Given the description of an element on the screen output the (x, y) to click on. 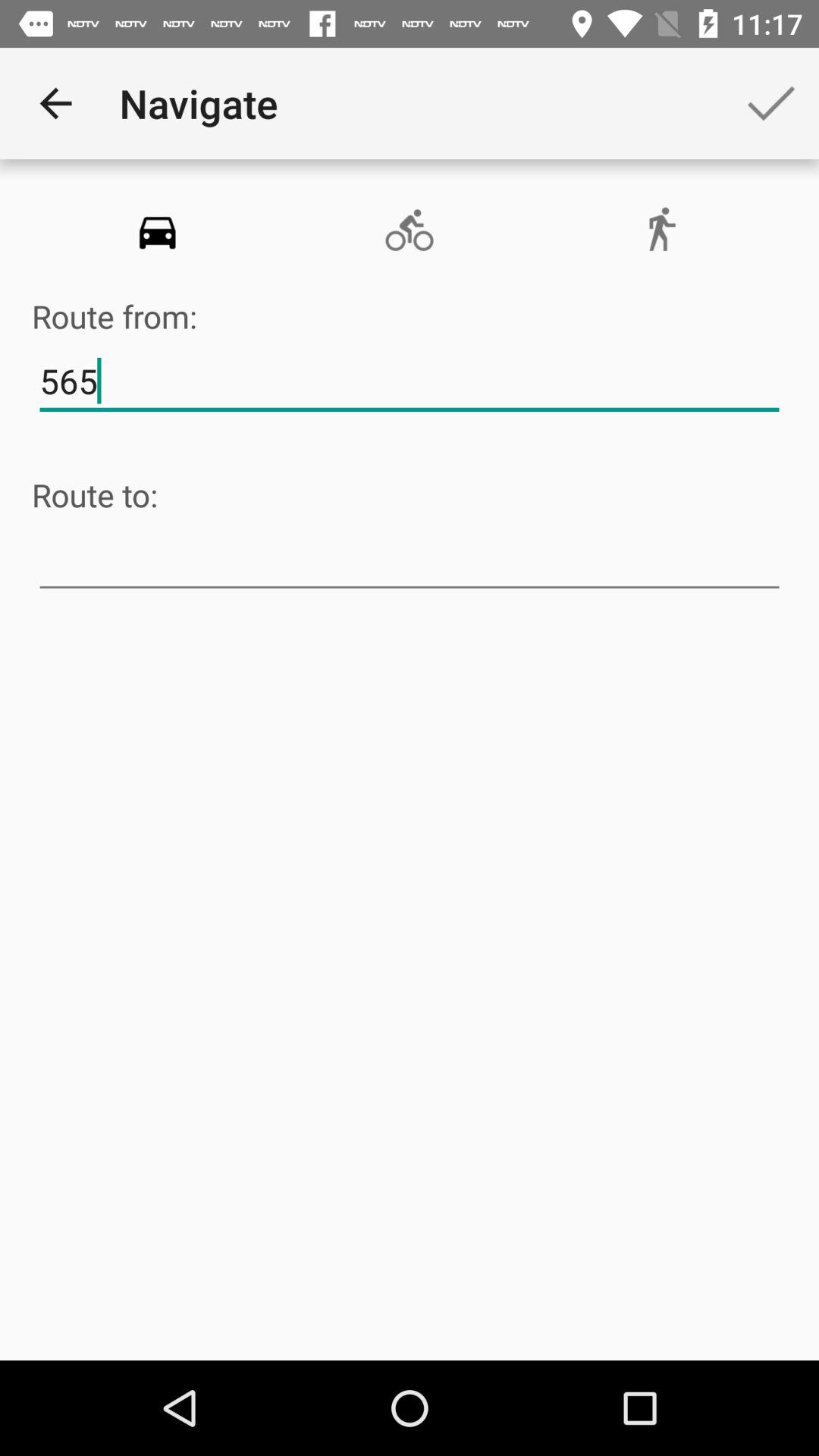
click icon above route from: (157, 230)
